Given the description of an element on the screen output the (x, y) to click on. 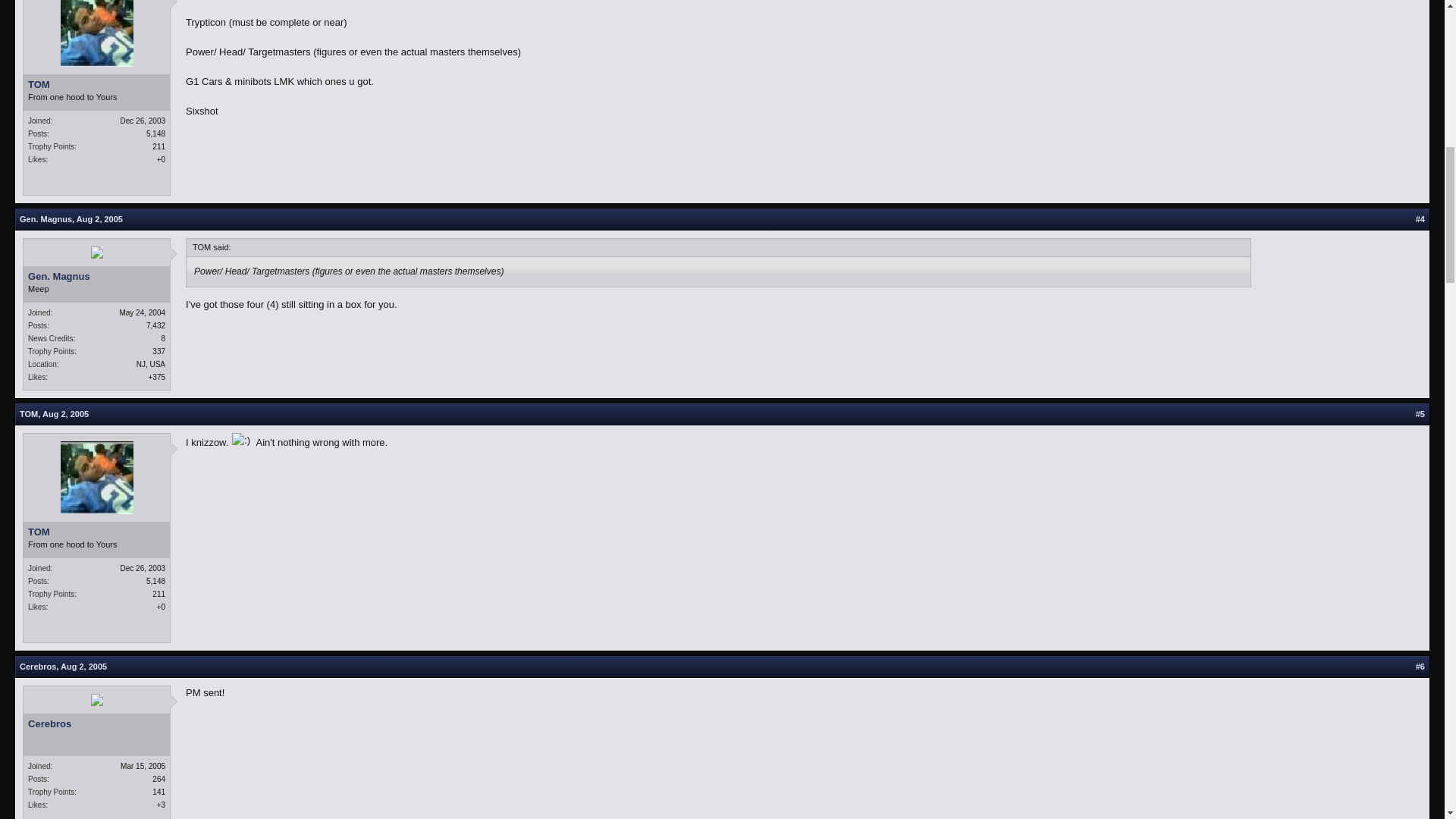
Permalink (99, 218)
TOM (96, 84)
Permalink (83, 665)
Permalink (65, 413)
5,148 (156, 133)
